Given the description of an element on the screen output the (x, y) to click on. 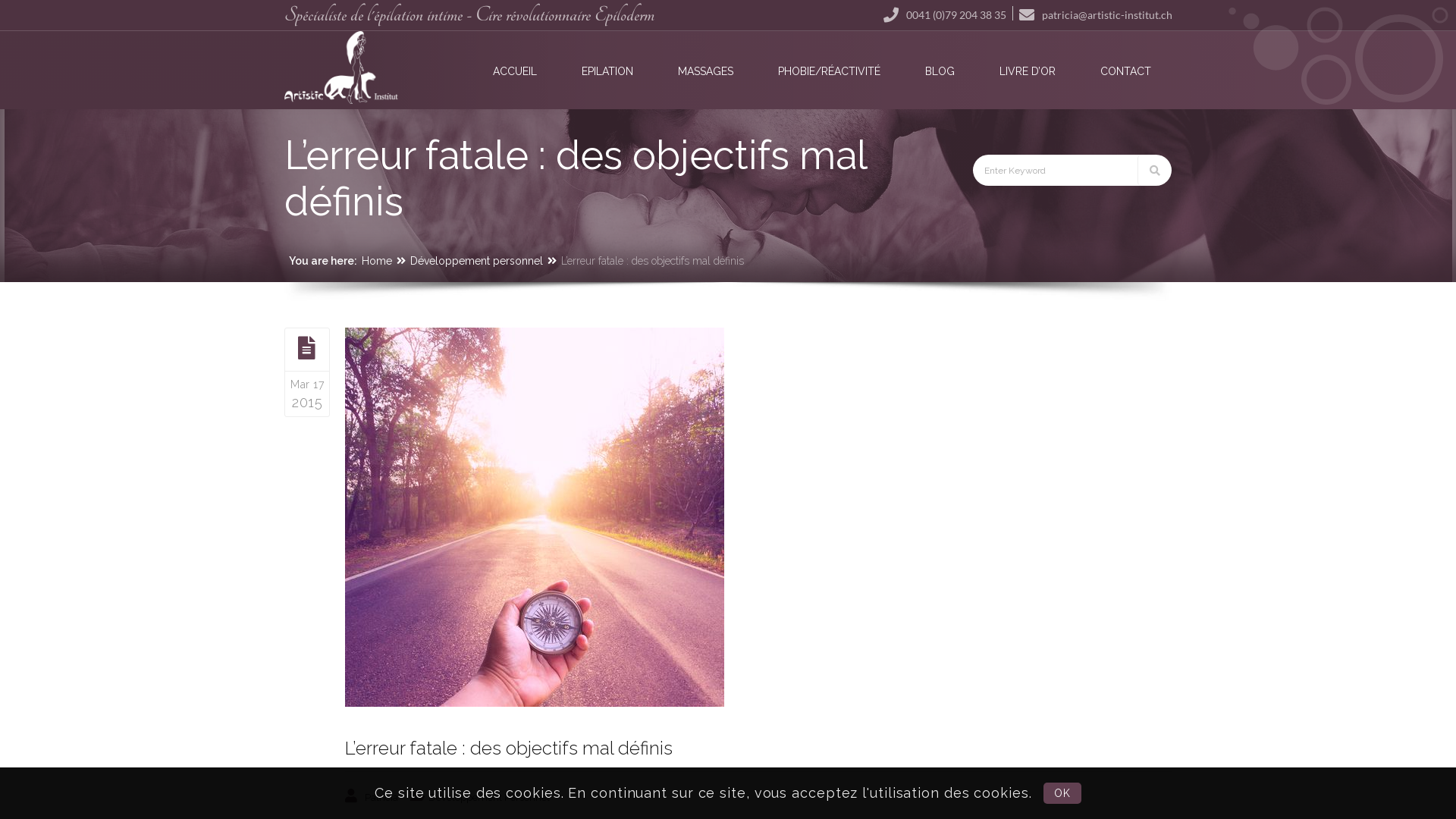
CONTACT Element type: text (1125, 70)
MASSAGES Element type: text (705, 70)
patricia@artistic-institut.ch Element type: text (1095, 14)
Go Element type: text (1154, 169)
OK Element type: text (1062, 792)
Home Element type: text (376, 260)
ACCUEIL Element type: text (514, 70)
BLOG Element type: text (939, 70)
EPILATION Element type: text (607, 70)
Patricia Element type: text (381, 797)
0041 (0)79 204 38 35 Element type: text (944, 14)
